Given the description of an element on the screen output the (x, y) to click on. 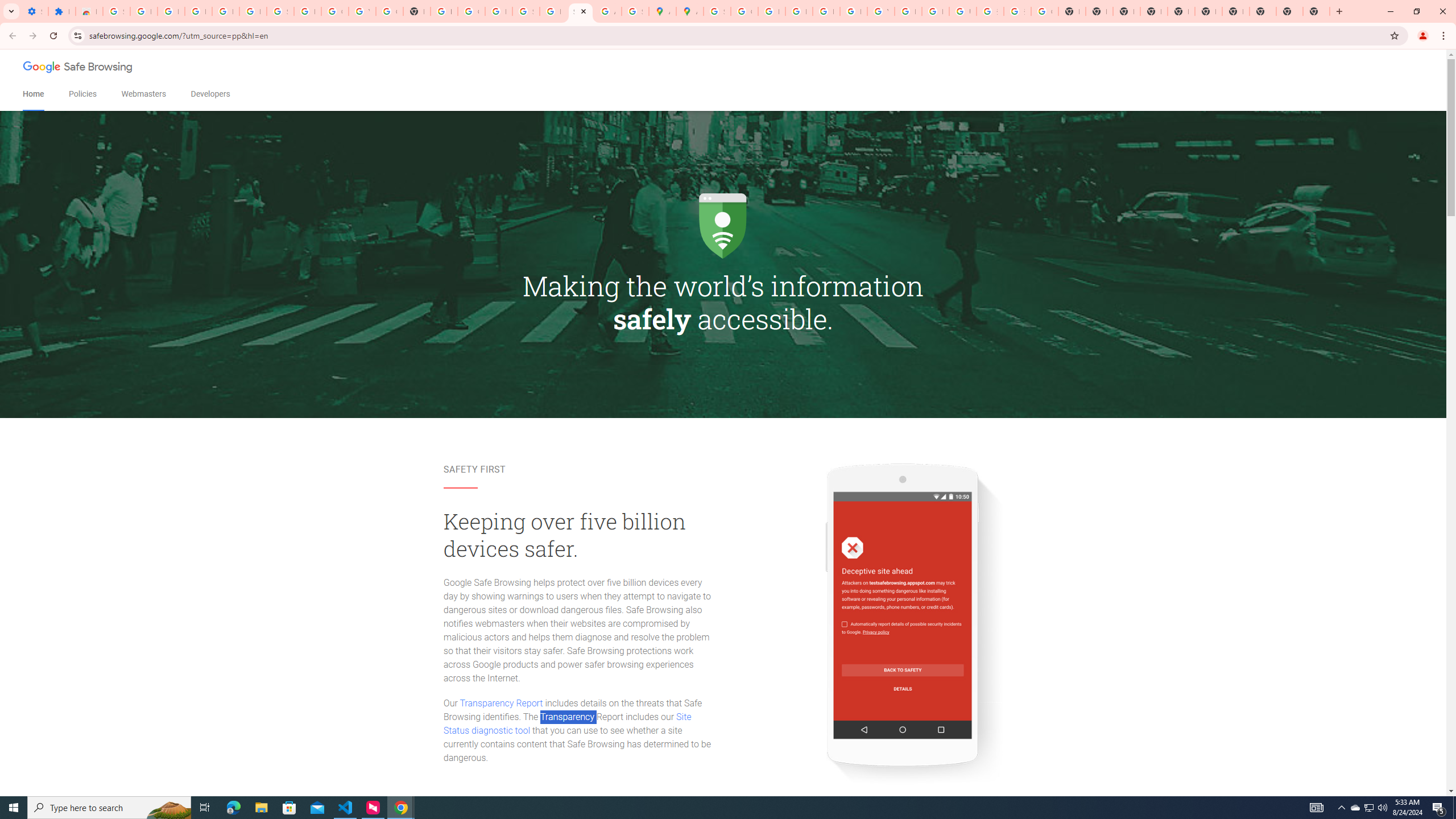
Developers (210, 94)
New Tab (1153, 11)
Google Safe Browsing (78, 68)
YouTube (880, 11)
Delete photos & videos - Computer - Google Photos Help (197, 11)
Google Account (334, 11)
Learn how to find your photos - Google Photos Help (225, 11)
